Given the description of an element on the screen output the (x, y) to click on. 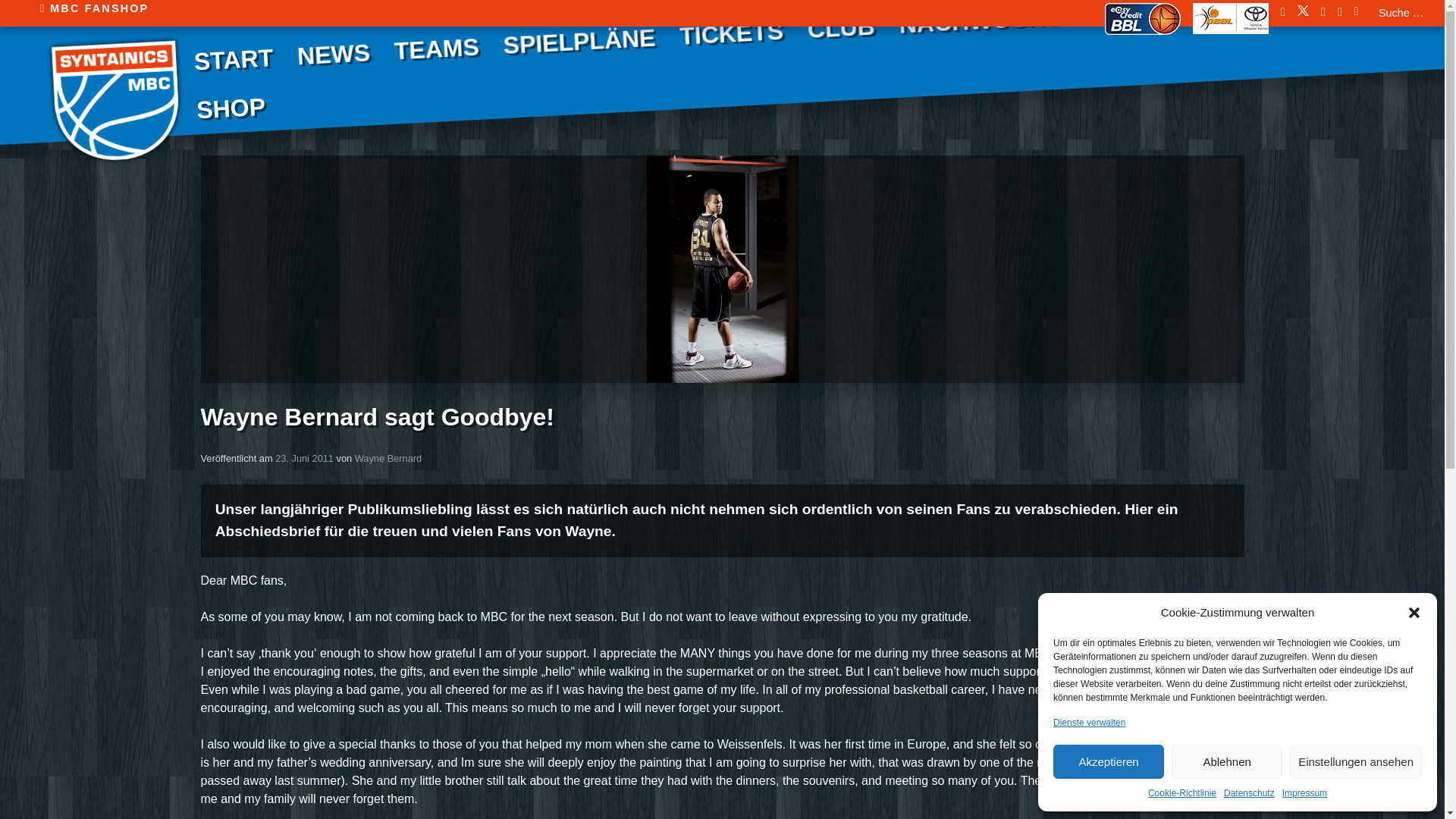
NEWS (331, 51)
Suche (22, 9)
FRAUEN (593, 79)
Impressum (1304, 793)
Einstellungen ansehen (1356, 761)
Akzeptieren (1107, 761)
DIE TEAMS HINTER DEM TEAM (960, 61)
TICKETS (730, 29)
DBBL (1230, 13)
easyCredit (1142, 12)
START (231, 56)
E-MAIL-NEWSLETTER (391, 87)
Dienste verwalten (1088, 722)
MBC FANSHOP (94, 8)
Datenschutz (1249, 793)
